Given the description of an element on the screen output the (x, y) to click on. 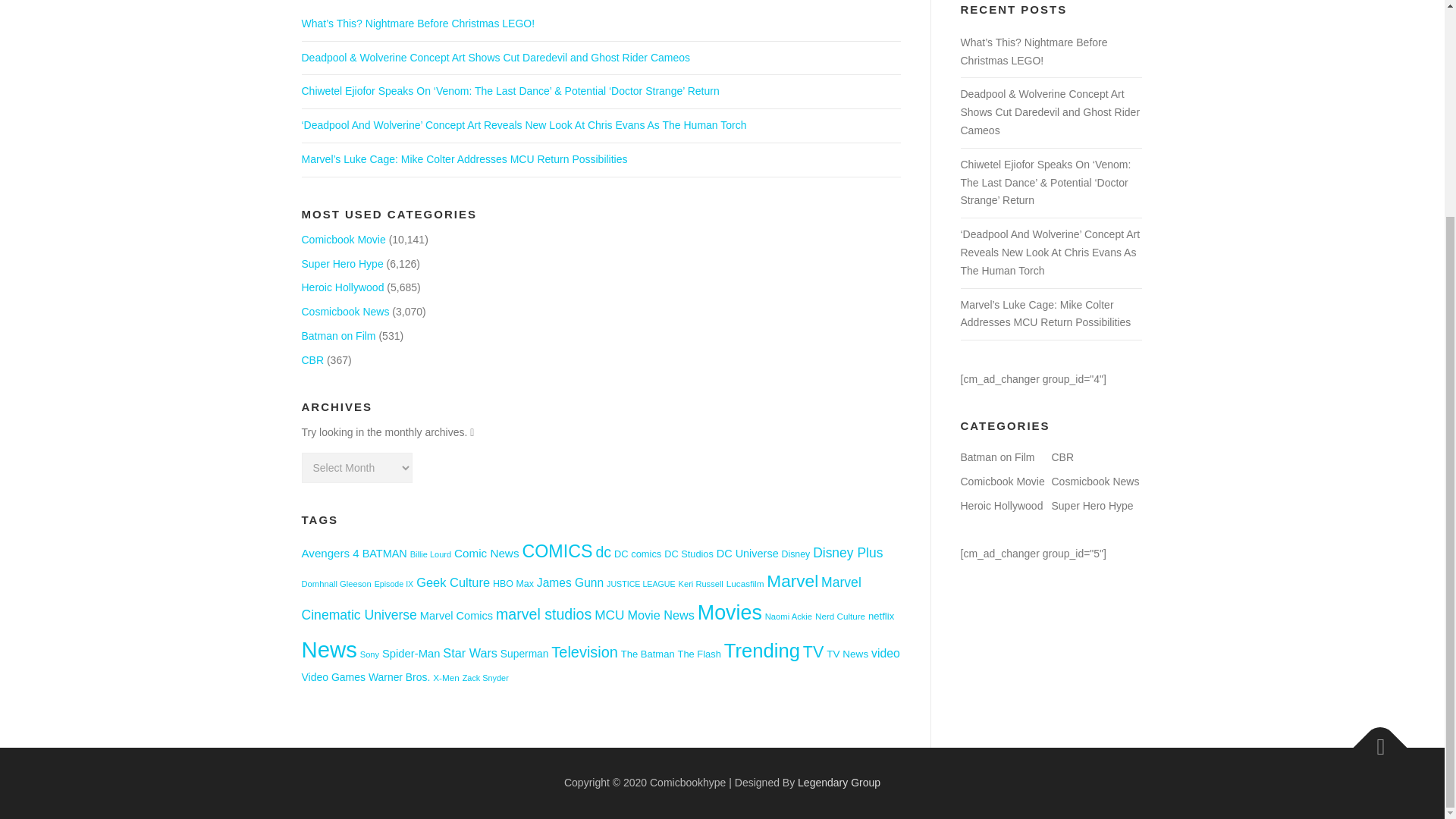
Marvel (792, 580)
Disney Plus (847, 552)
JUSTICE LEAGUE (641, 583)
Geek Culture (452, 581)
Disney (795, 553)
Lucasfilm (745, 583)
Super Hero Hype (342, 263)
Back To Top (1372, 739)
James Gunn (570, 582)
Keri Russell (700, 583)
